Given the description of an element on the screen output the (x, y) to click on. 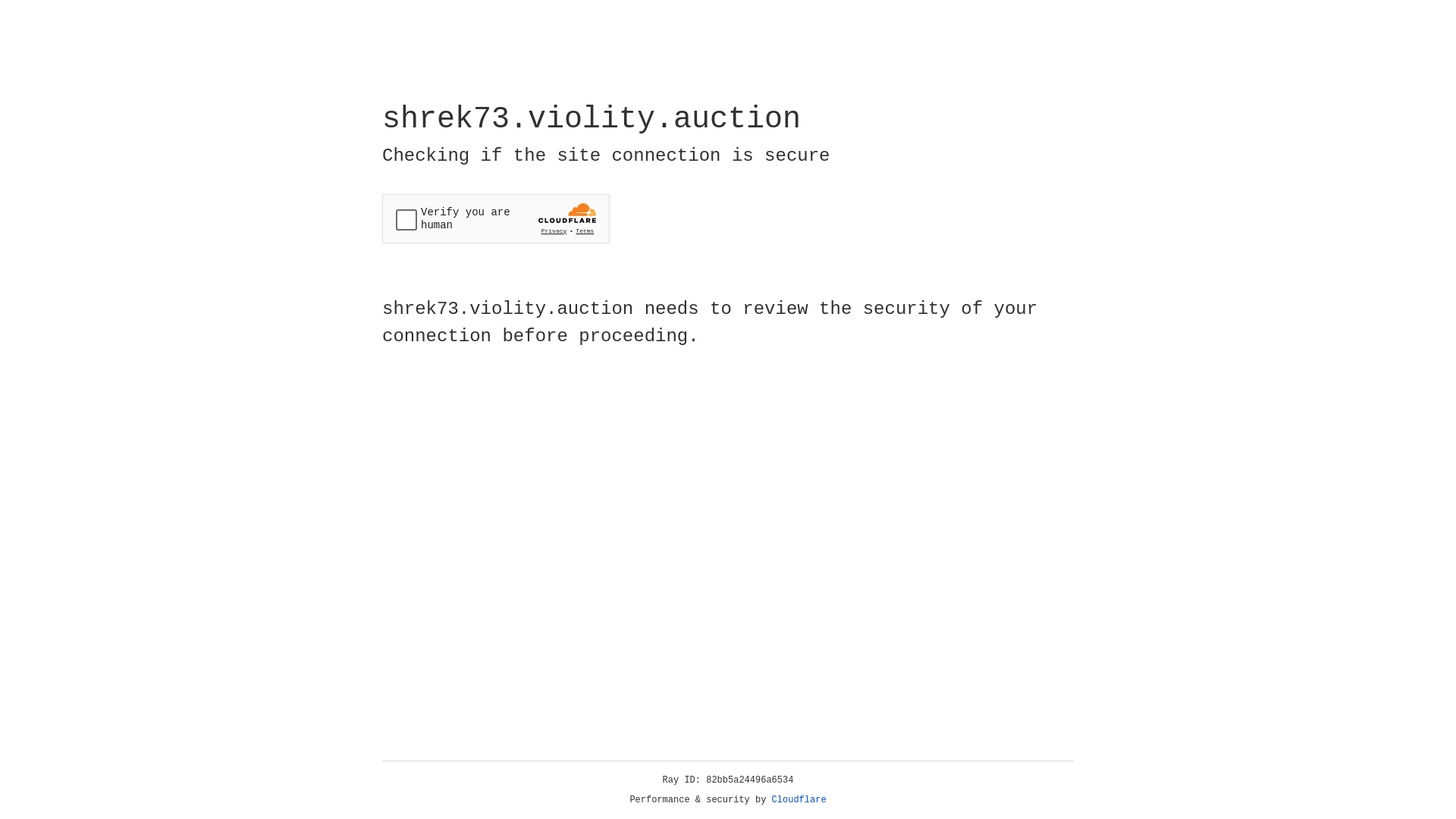
Cloudflare Element type: text (798, 799)
Widget containing a Cloudflare security challenge Element type: hover (495, 218)
